Given the description of an element on the screen output the (x, y) to click on. 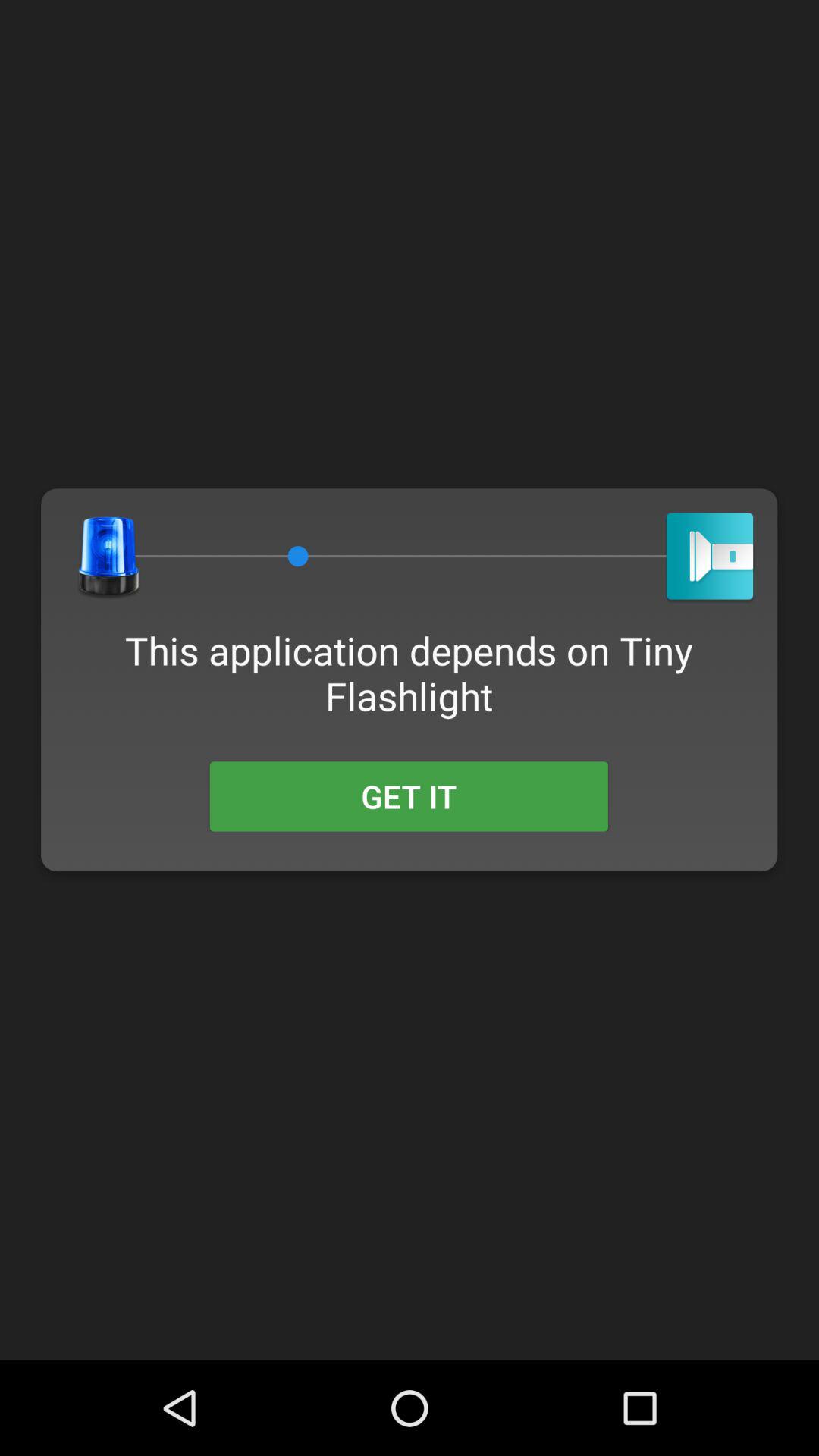
scroll until the     get it     item (408, 796)
